Given the description of an element on the screen output the (x, y) to click on. 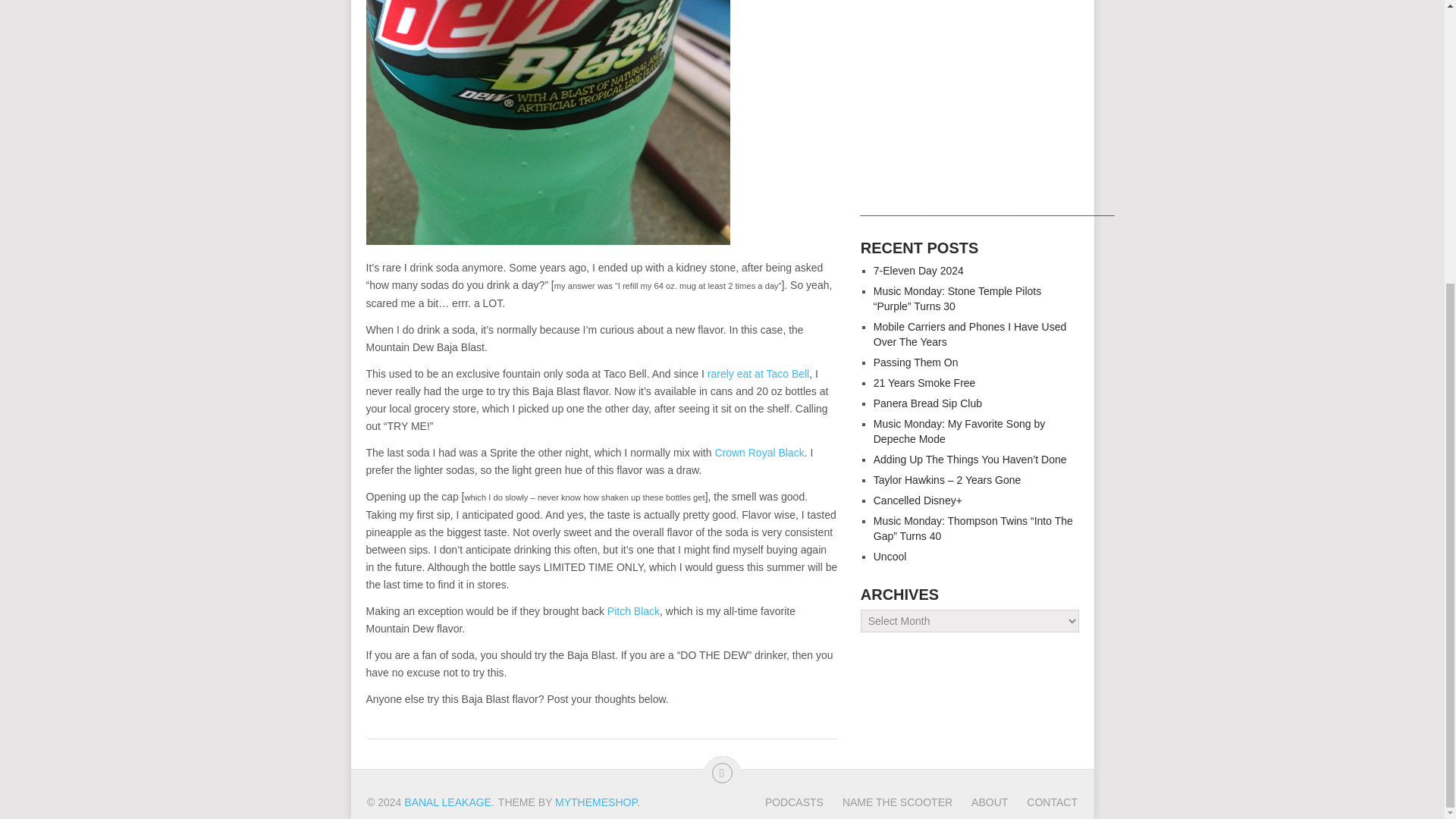
ABOUT (979, 802)
Mobile Carriers and Phones I Have Used Over The Years (969, 334)
Crown Royal Black (758, 452)
NAME THE SCOOTER (888, 802)
BANAL LEAKAGE (448, 802)
Music Monday: My Favorite Song by Depeche Mode (959, 431)
Uncool (890, 556)
Passing Them On (915, 362)
Random Bits of Whatever (448, 802)
MYTHEMESHOP (595, 802)
Panera Bread Sip Club (927, 403)
PODCASTS (794, 802)
Advertisement (969, 101)
taco-bell-doritos-locos-tacos (758, 373)
21 Years Smoke Free (924, 382)
